Given the description of an element on the screen output the (x, y) to click on. 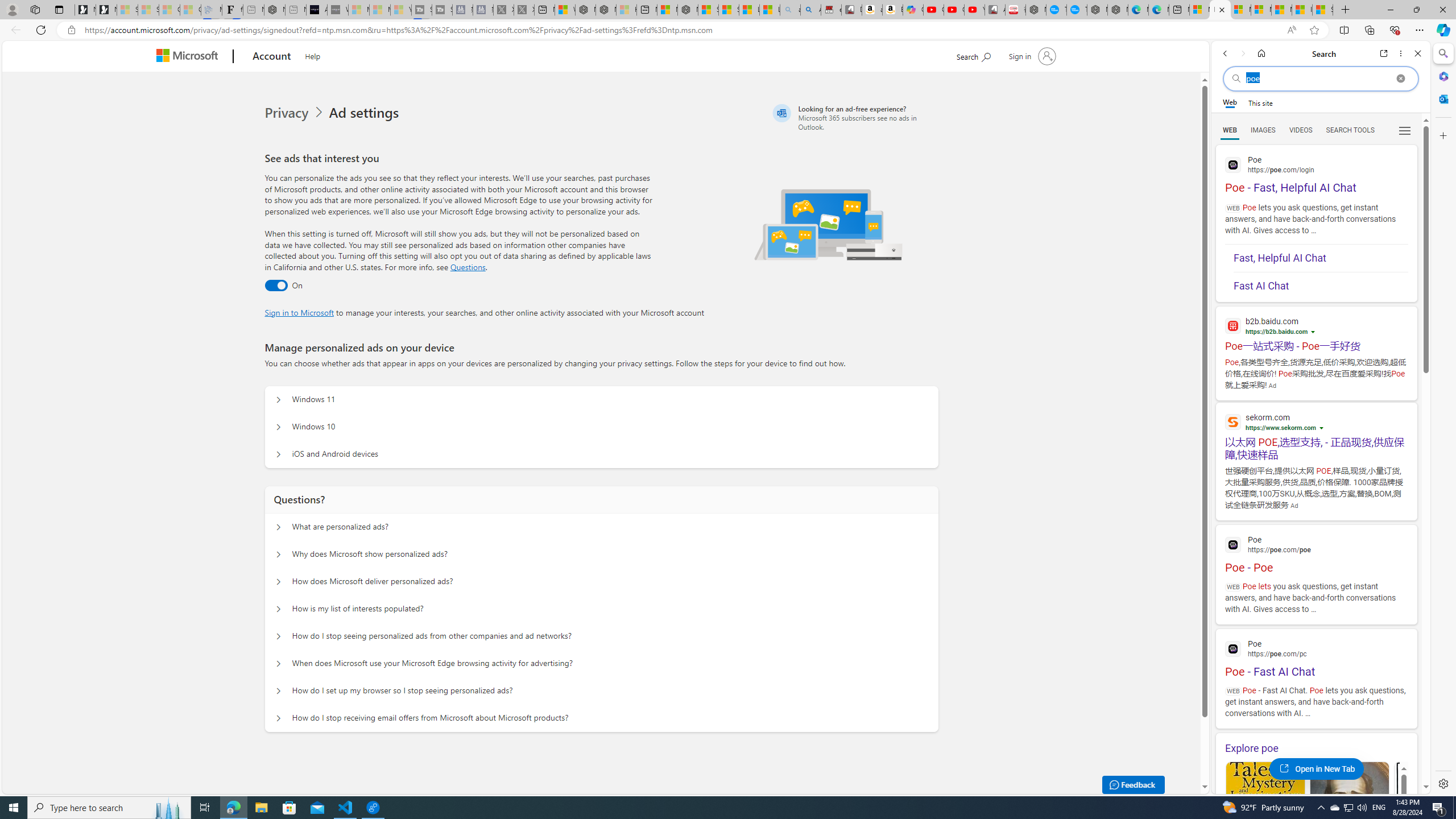
Forward (1242, 53)
Class: b_serphb (1404, 130)
What's the best AI voice generator? - voice.ai - Sleeping (337, 9)
Microsoft Start Sports - Sleeping (358, 9)
Outlook (1442, 98)
Questions? How does Microsoft deliver personalized ads? (278, 581)
New tab - Sleeping (296, 9)
Looking for an ad-free experience? (854, 117)
Microsoft (189, 56)
Fast, Helpful AI Chat (1320, 258)
https://b2b.baidu.com (1275, 331)
